Given the description of an element on the screen output the (x, y) to click on. 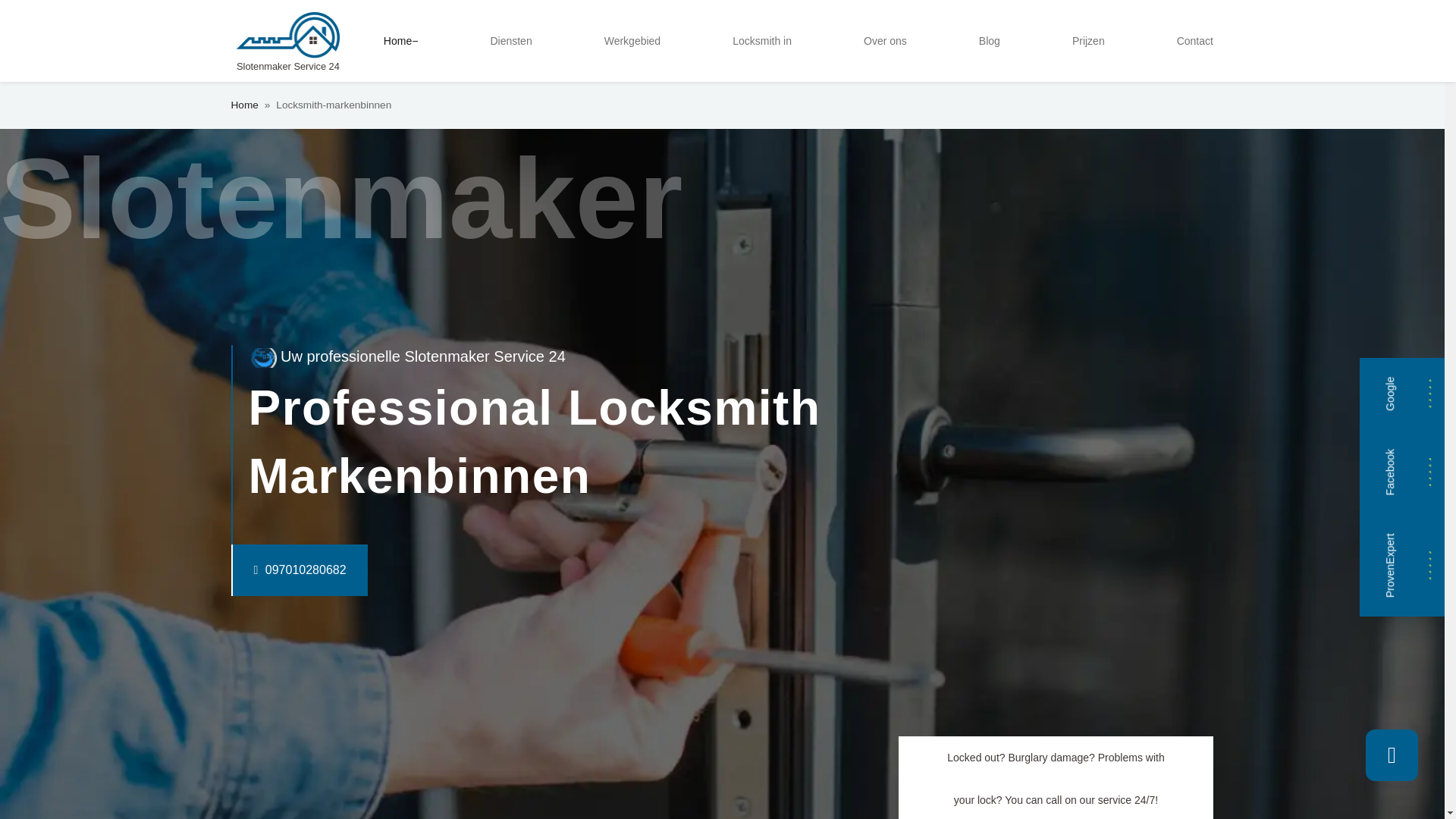
Blog (989, 40)
Diensten (510, 40)
Locksmith in (761, 40)
Prijzen (1087, 40)
Slotenmaker Service 24 (287, 40)
Home (401, 40)
Home (243, 105)
Contact (1195, 40)
Over ons (884, 40)
097010280682 (268, 570)
Werkgebied (632, 40)
